Given the description of an element on the screen output the (x, y) to click on. 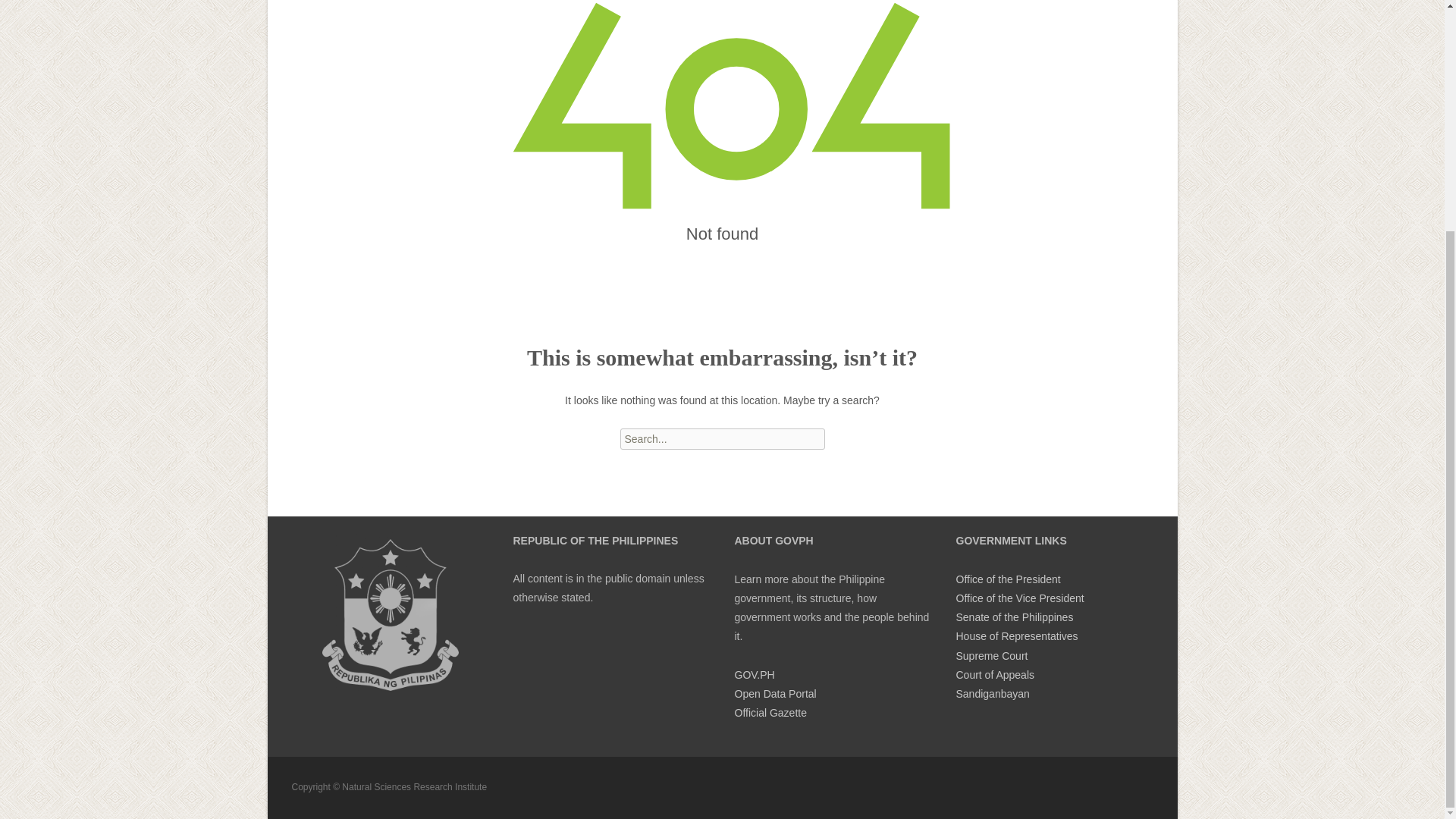
Senate of the Philippines (1014, 616)
Official Gazette (769, 712)
Supreme Court (991, 655)
Open Data Portal (774, 693)
GOV.PH (753, 674)
Office of the President (1007, 579)
Sandiganbayan (992, 693)
House of Representatives (1016, 635)
Search for: (722, 438)
Office of the Vice President (1019, 598)
